Given the description of an element on the screen output the (x, y) to click on. 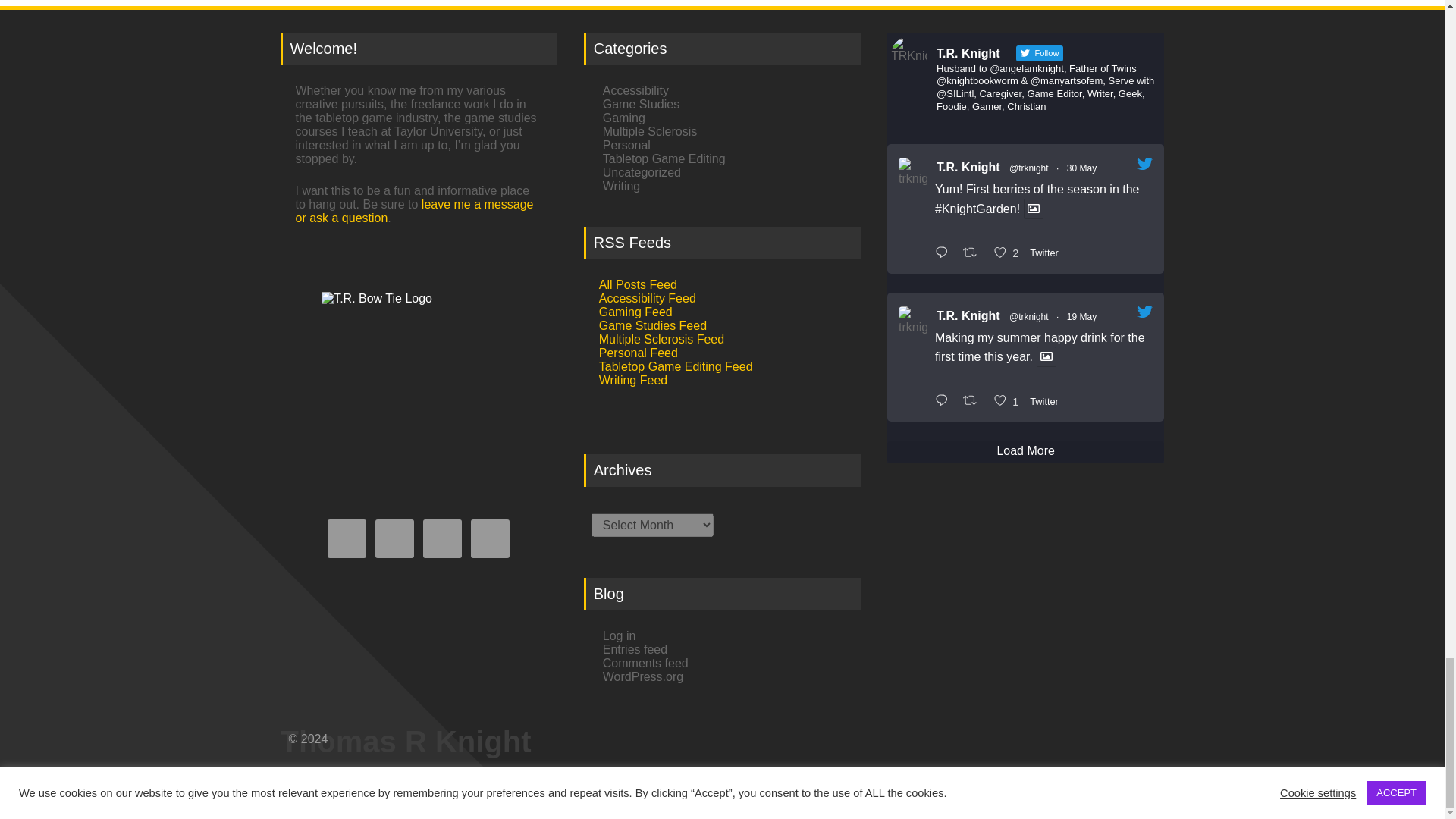
leave me a message or ask a question (414, 211)
WordPress (372, 775)
Masonic (344, 788)
